Given the description of an element on the screen output the (x, y) to click on. 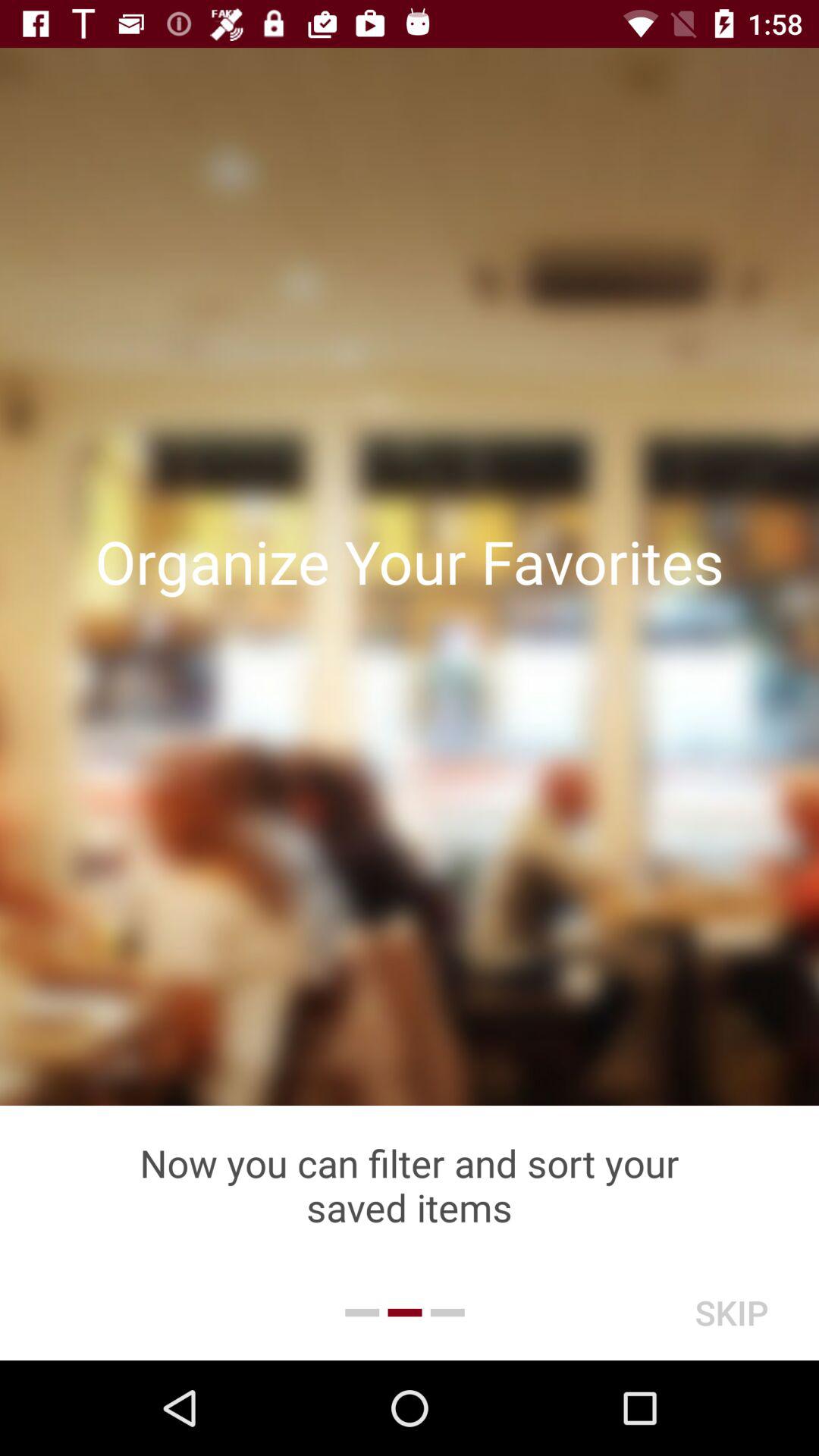
launch the now you can icon (409, 1184)
